Given the description of an element on the screen output the (x, y) to click on. 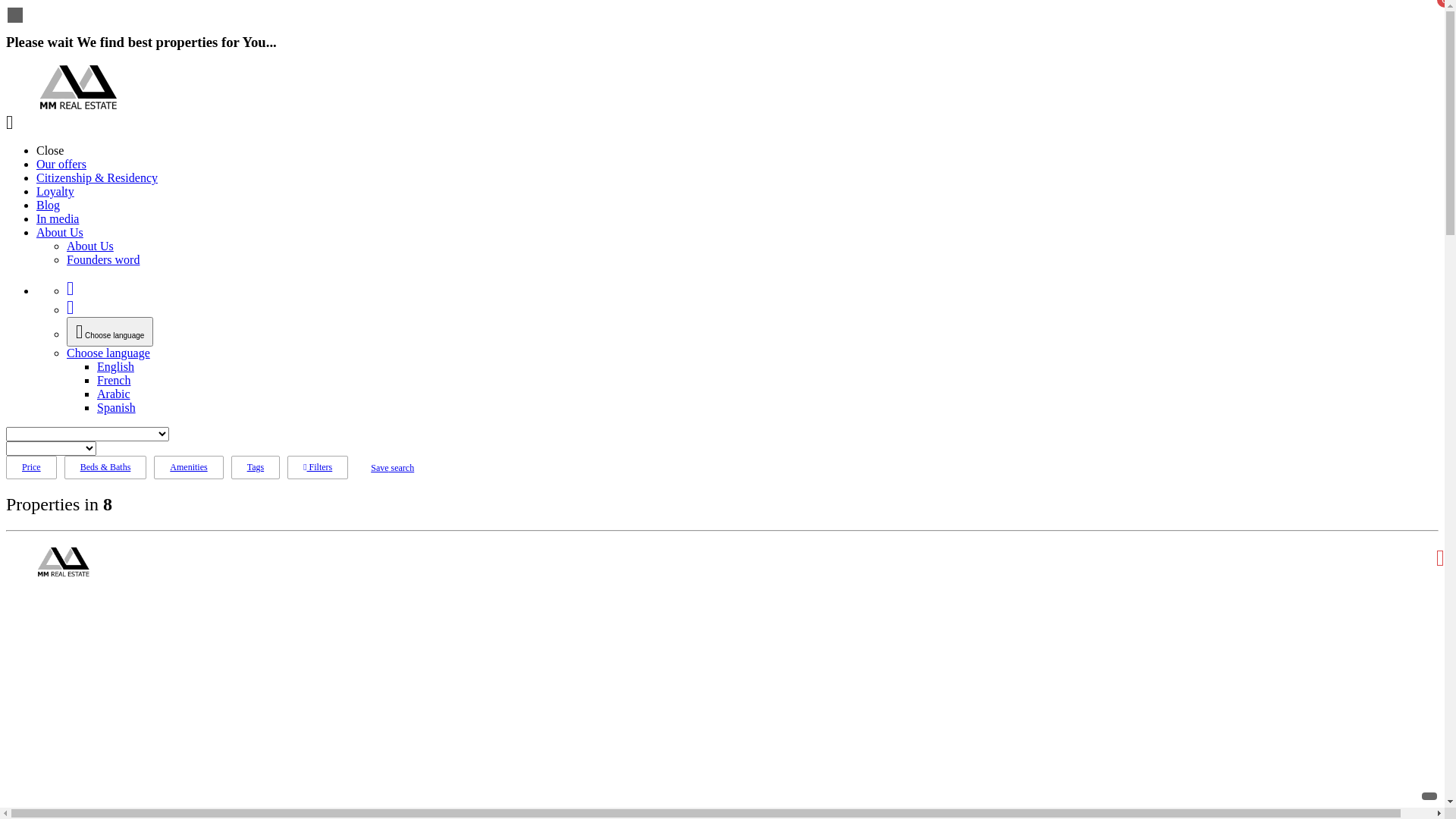
About Us Element type: text (89, 245)
Price Element type: text (31, 467)
Choose language Element type: text (109, 333)
Save
 search Element type: text (392, 467)
English Element type: text (115, 366)
Amenities Element type: text (188, 467)
Arabic Element type: text (113, 393)
Our offers Element type: text (61, 163)
In media Element type: text (57, 218)
Tags Element type: text (255, 467)
Spanish Element type: text (116, 407)
Loyalty Element type: text (55, 191)
About Us Element type: text (59, 231)
Choose language Element type: text (108, 352)
Choose language Element type: text (109, 331)
Founders word Element type: text (102, 259)
French Element type: text (113, 379)
Citizenship & Residency Element type: text (96, 177)
0 Element type: text (69, 309)
Beds & Baths Element type: text (105, 467)
Blog Element type: text (47, 204)
Filters Element type: text (317, 467)
